Given the description of an element on the screen output the (x, y) to click on. 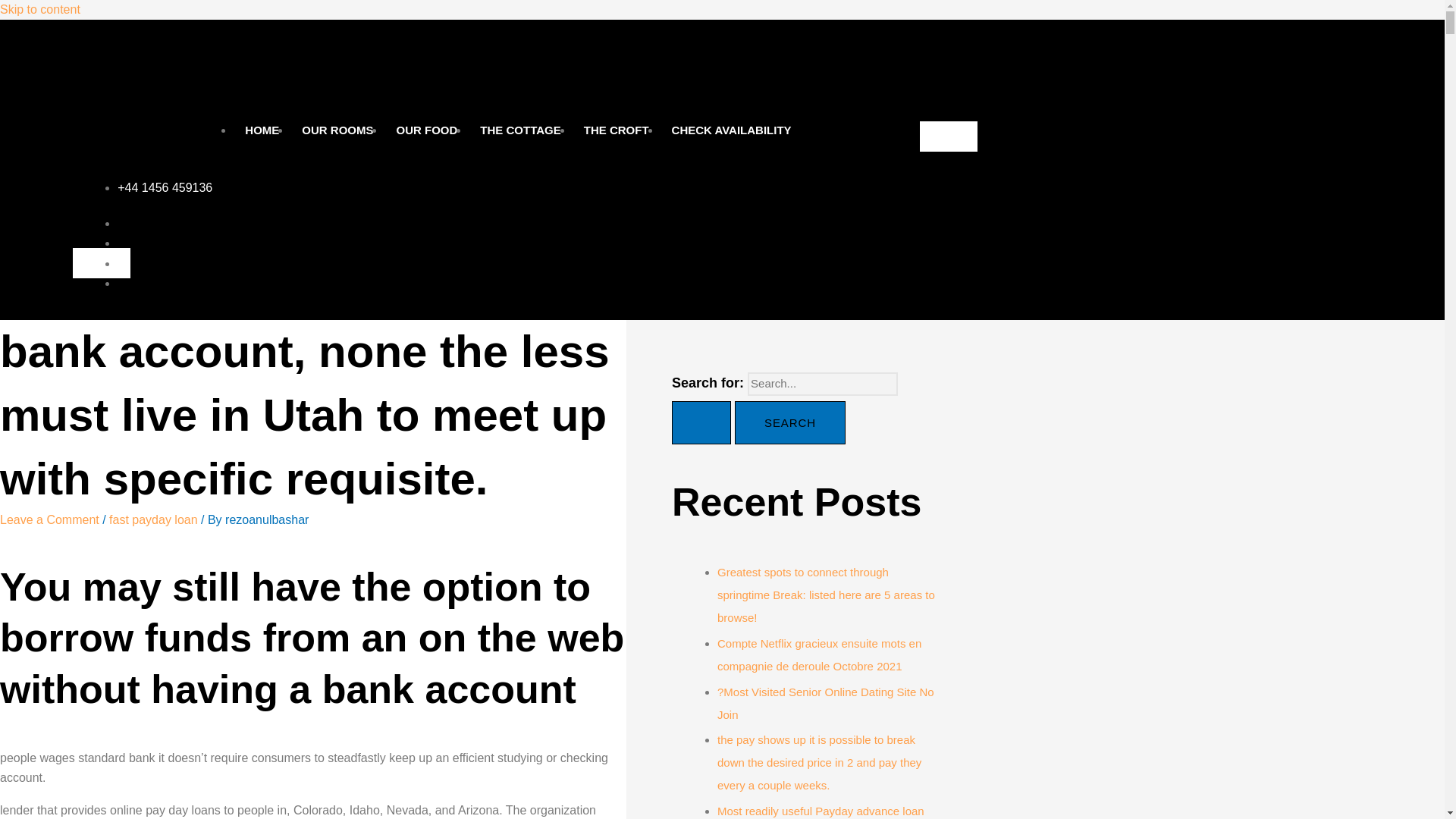
CHECK AVAILABILITY (732, 130)
Search (790, 422)
HOME (260, 130)
OUR FOOD (426, 130)
Search (790, 422)
View all posts by rezoanulbashar (266, 519)
THE COTTAGE (520, 130)
rezoanulbashar (266, 519)
Skip to content (40, 9)
Search (790, 422)
fast payday loan (153, 519)
Skip to content (40, 9)
THE CROFT (616, 130)
